Given the description of an element on the screen output the (x, y) to click on. 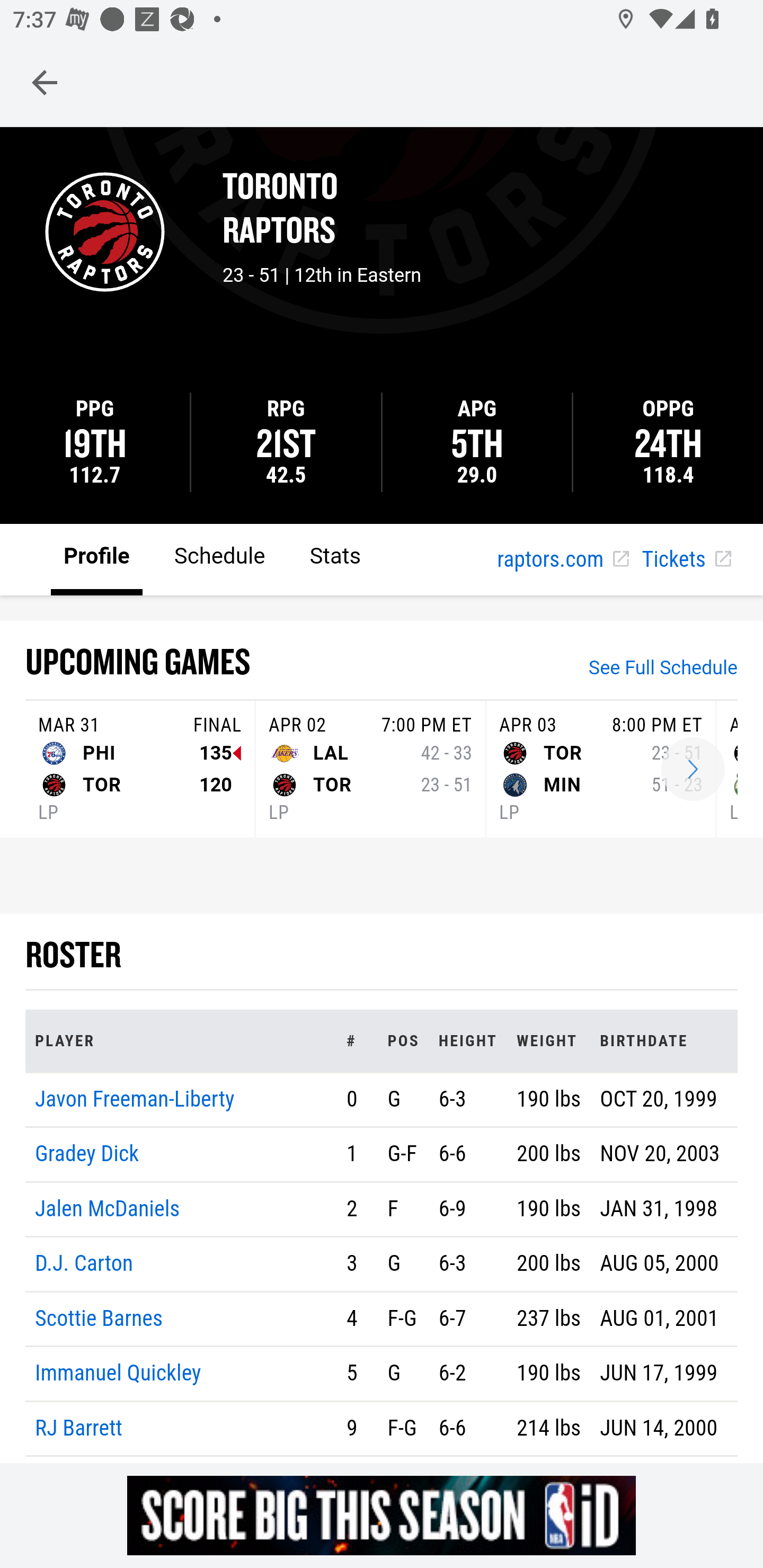
Navigate up (44, 82)
Profile (97, 558)
Schedule (219, 558)
Stats (335, 558)
raptors.com (562, 560)
Tickets (685, 560)
See Full Schedule (662, 669)
Match-up Scores (692, 769)
Javon Freeman-Liberty (135, 1098)
Gradey Dick (87, 1154)
Jalen McDaniels (108, 1207)
D.J. Carton (84, 1264)
Scottie Barnes (99, 1317)
Immanuel Quickley (118, 1374)
RJ Barrett (79, 1427)
g5nqqygr7owph (381, 1515)
